Given the description of an element on the screen output the (x, y) to click on. 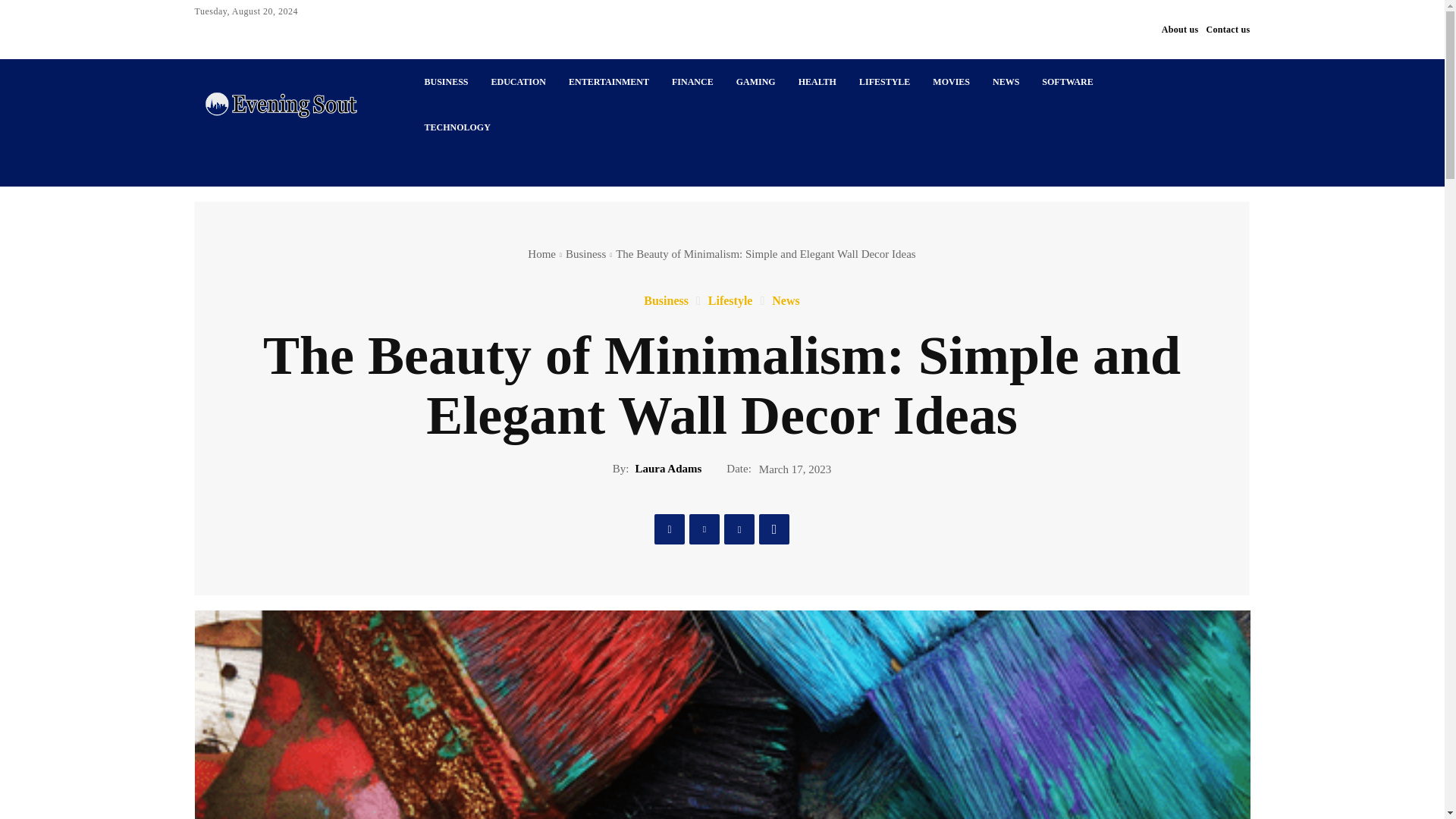
Pinterest (738, 529)
TECHNOLOGY (456, 126)
GAMING (756, 81)
ENTERTAINMENT (609, 81)
MOVIES (951, 81)
BUSINESS (445, 81)
View all posts in Business (585, 254)
NEWS (1005, 81)
About us (1179, 29)
Twitter (703, 529)
